Given the description of an element on the screen output the (x, y) to click on. 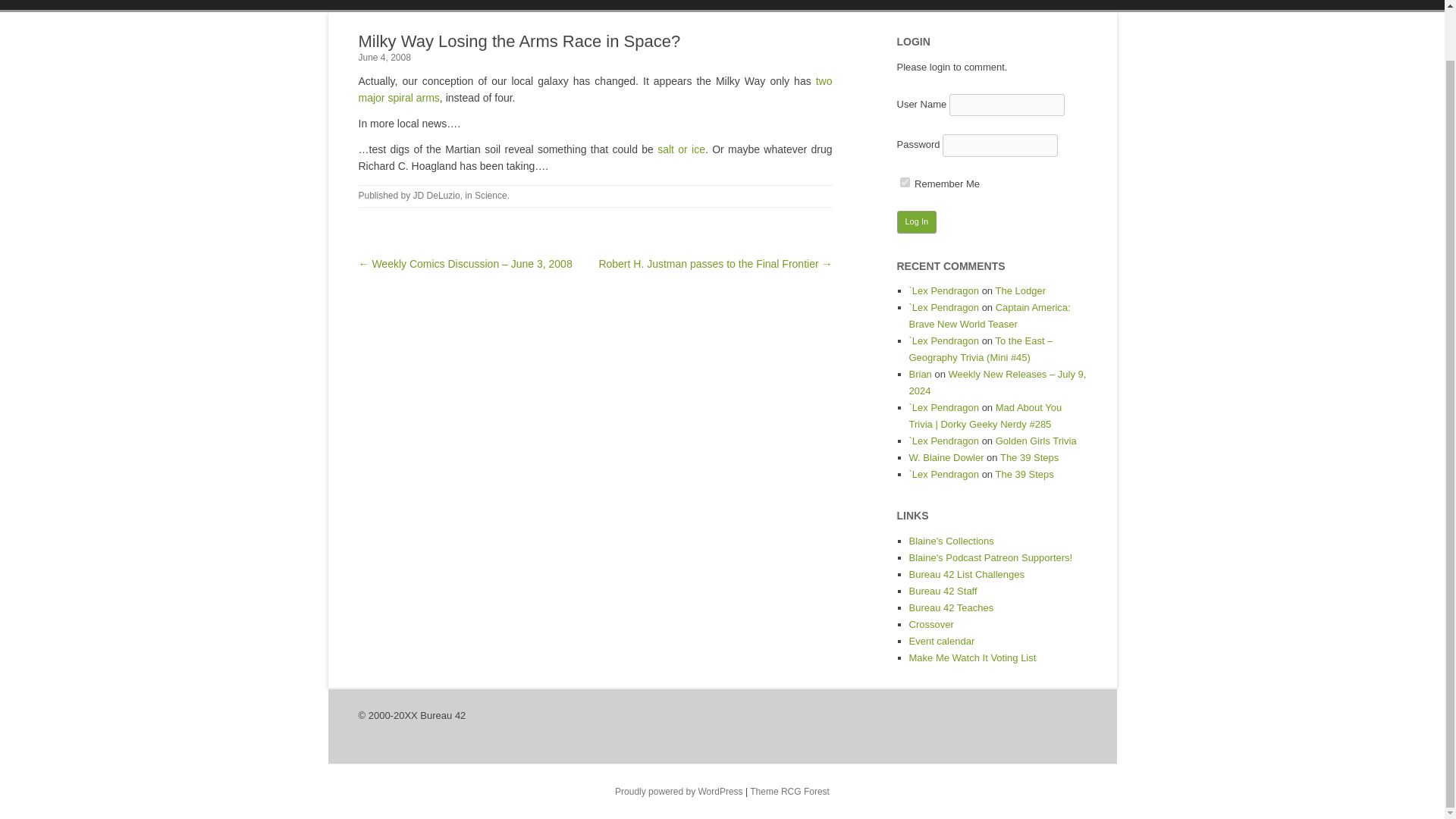
W. Blaine Dowler (946, 457)
Skip to content (757, 17)
4:09 am (384, 57)
Brian (919, 374)
Bureau 42 Staff (942, 591)
Proudly powered by WordPress (678, 791)
Make Me Watch It Voting List (971, 657)
two major spiral arms (594, 89)
Science (490, 195)
View all posts by JD DeLuzio (436, 195)
Semantic Personal Publishing Platform (678, 791)
Log In (916, 221)
salt or ice (681, 149)
Skip to content (757, 17)
